Given the description of an element on the screen output the (x, y) to click on. 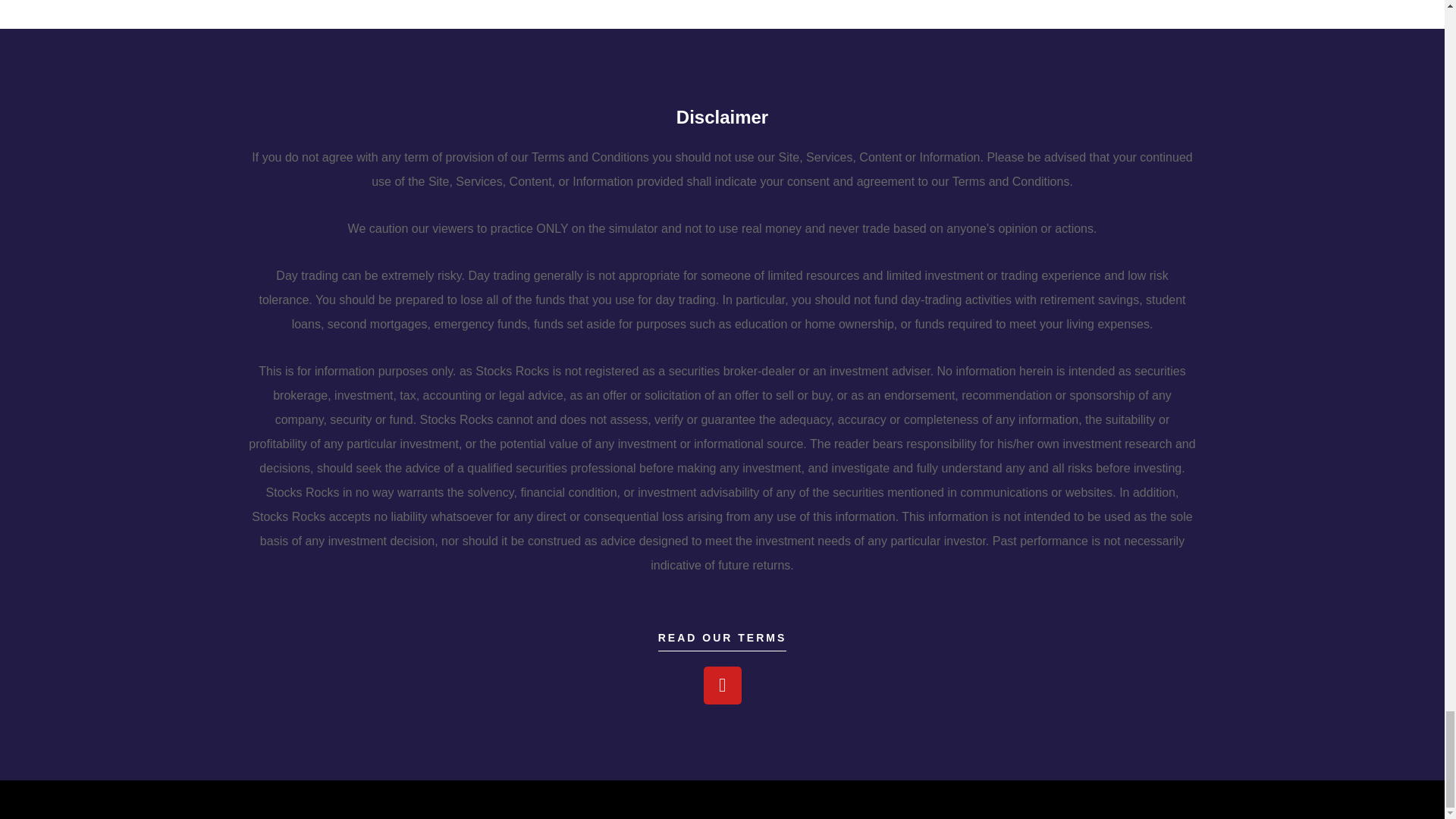
WordPress (410, 799)
READ OUR TERMS (722, 641)
Neve (302, 799)
